Given the description of an element on the screen output the (x, y) to click on. 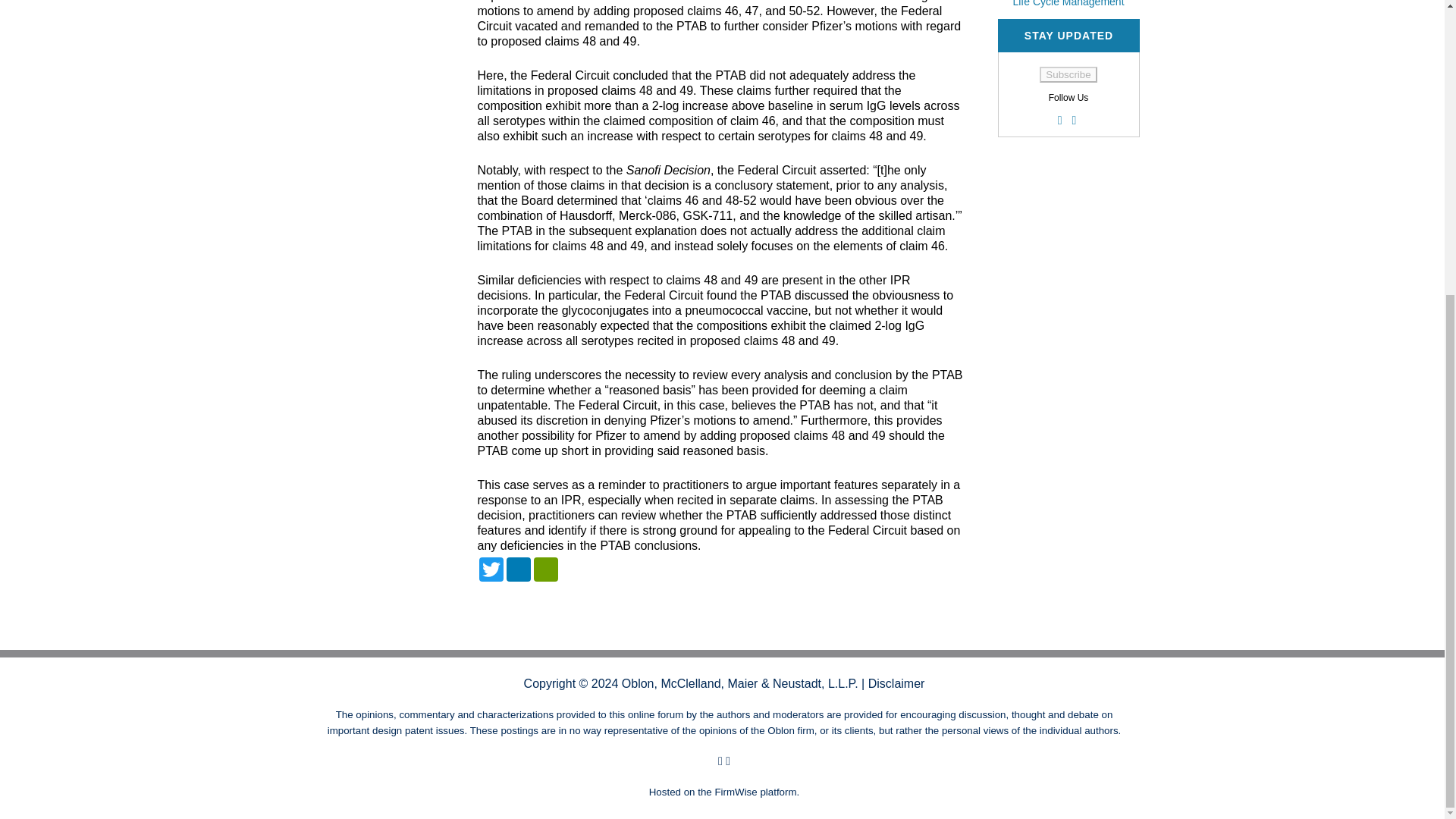
FirmWise (735, 791)
Life Cycle Management (1067, 3)
Twitter (491, 569)
Disclaimer (895, 683)
Subscribe (1067, 74)
Subscribe (1067, 74)
LinkedIn (518, 569)
Law Firm Web Hosting and Design. (735, 791)
PrintFriendly (545, 569)
